Given the description of an element on the screen output the (x, y) to click on. 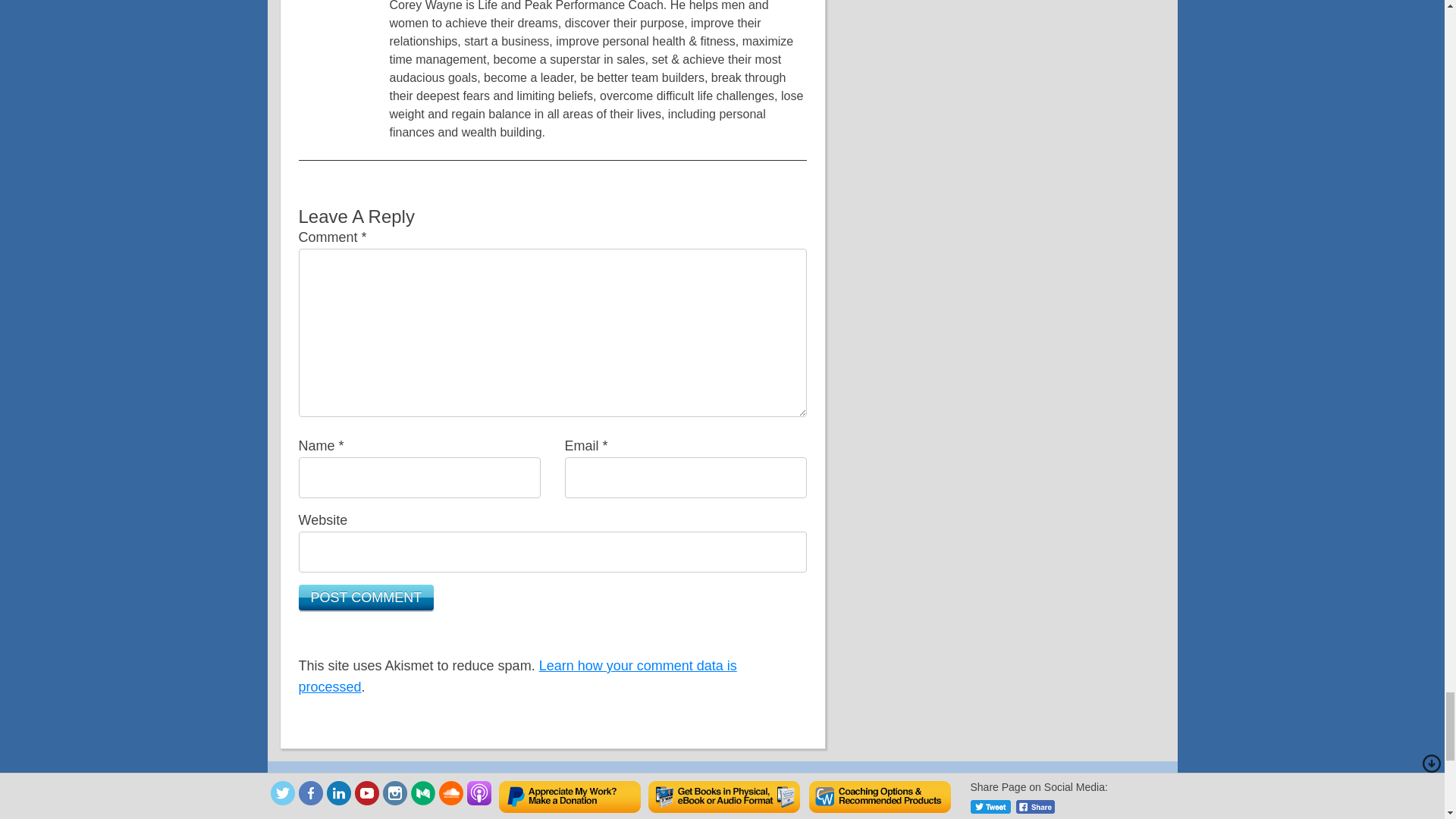
Post Comment (365, 597)
